Given the description of an element on the screen output the (x, y) to click on. 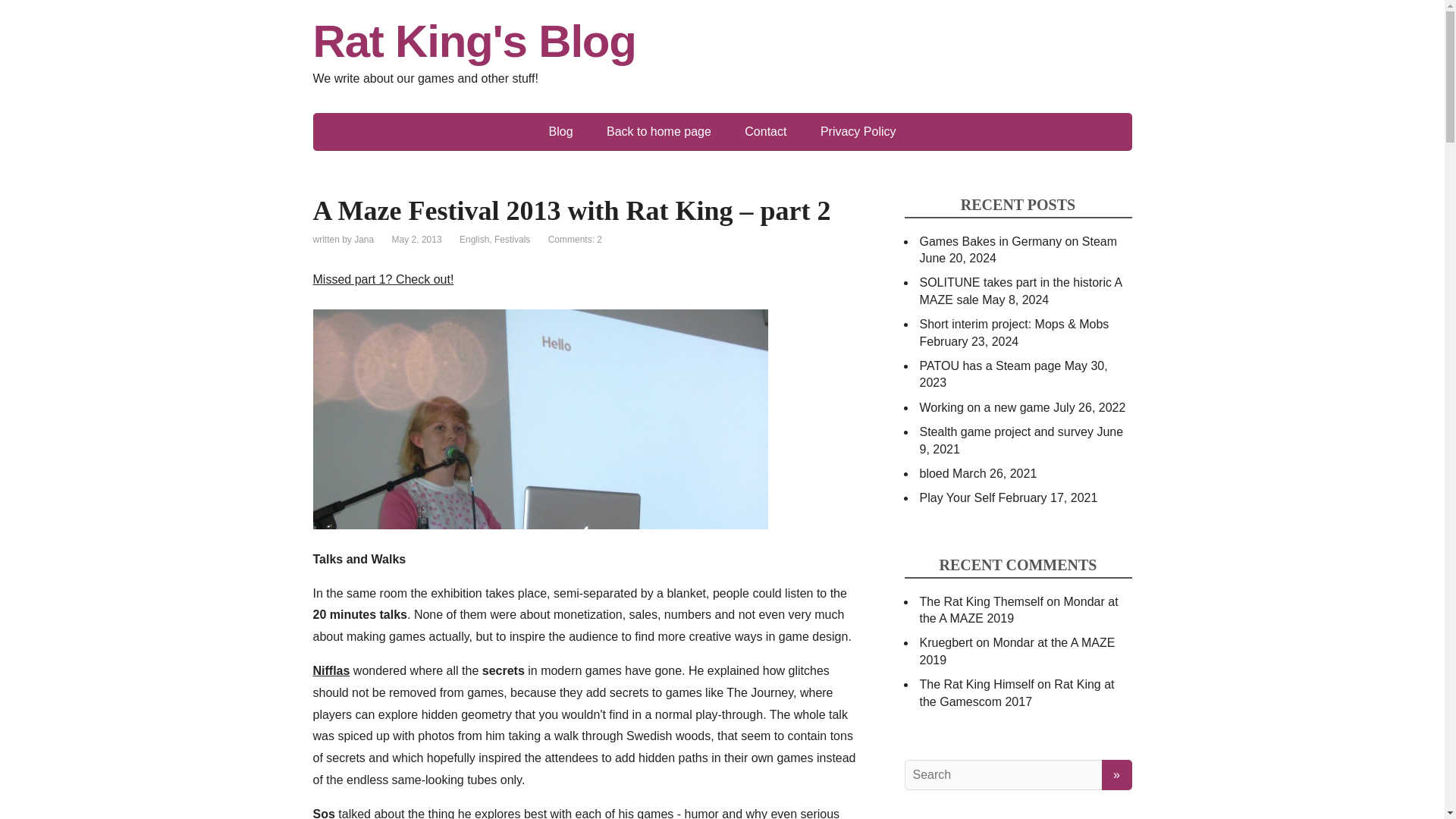
Nifflas (331, 670)
Missed part 1? Check out! (382, 278)
Festivals (512, 239)
Comments: 2 (575, 239)
part 1 (382, 278)
Nifflas (331, 670)
Sos (323, 813)
Back to home page (658, 131)
Rat King's Blog (722, 41)
Sos (323, 813)
Privacy Policy (858, 131)
English (474, 239)
Blog (561, 131)
Contact (765, 131)
Rat King's Blog (722, 41)
